Given the description of an element on the screen output the (x, y) to click on. 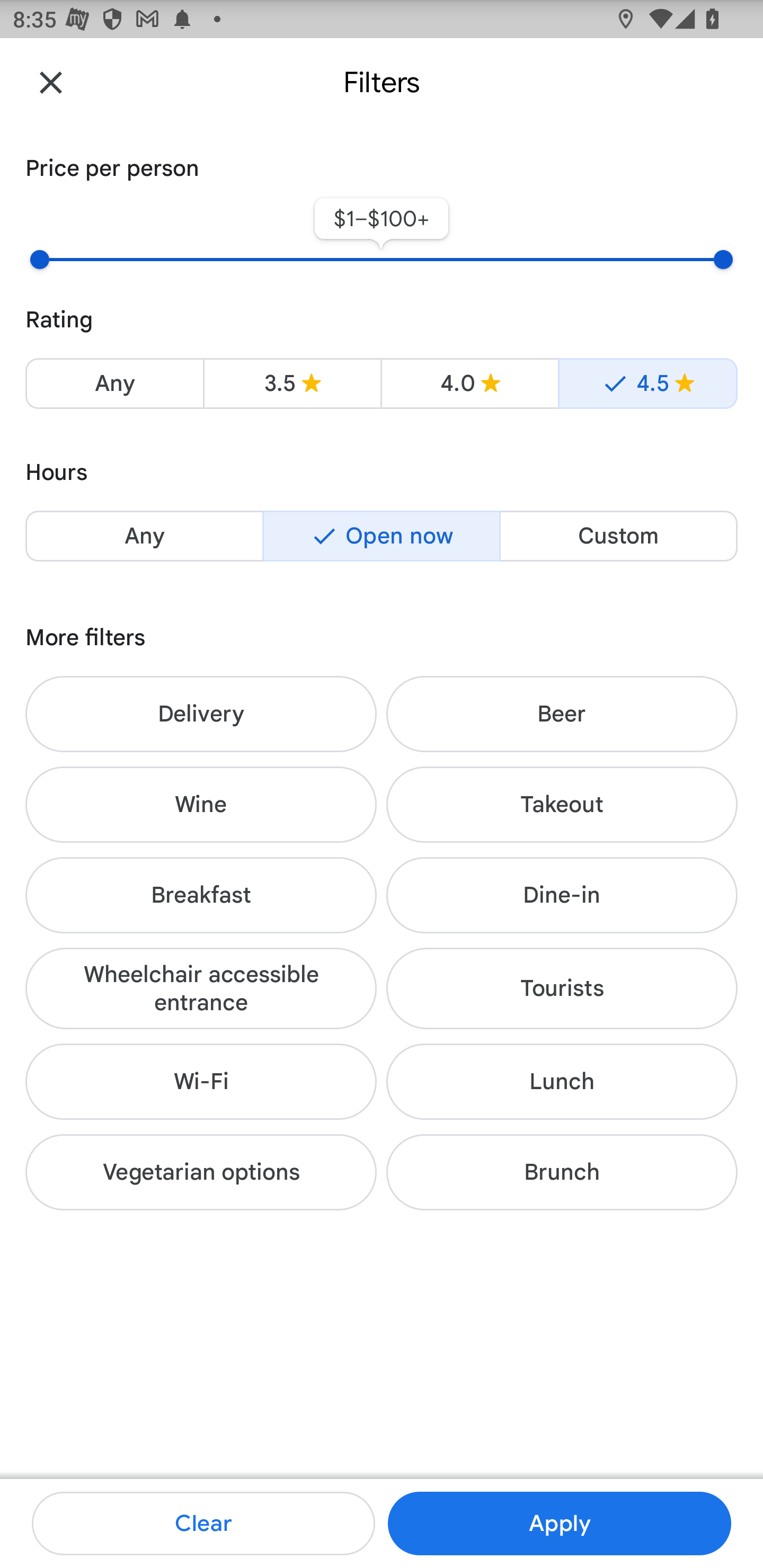
Close menu (50, 81)
Any (114, 382)
3.5 stars (292, 382)
4.0 stars (469, 382)
4.5 stars (647, 382)
Any (144, 535)
Open now (381, 535)
Custom (618, 535)
Delivery (200, 713)
Beer (561, 713)
Wine (200, 804)
Takeout (561, 804)
Breakfast (200, 894)
Dine-in (561, 894)
Wheelchair accessible entrance (200, 987)
Tourists (561, 987)
Wi-Fi (200, 1081)
Lunch (561, 1081)
Vegetarian options (200, 1171)
Brunch (561, 1171)
Clear Clear Clear (203, 1522)
Apply Apply Apply (558, 1522)
